Given the description of an element on the screen output the (x, y) to click on. 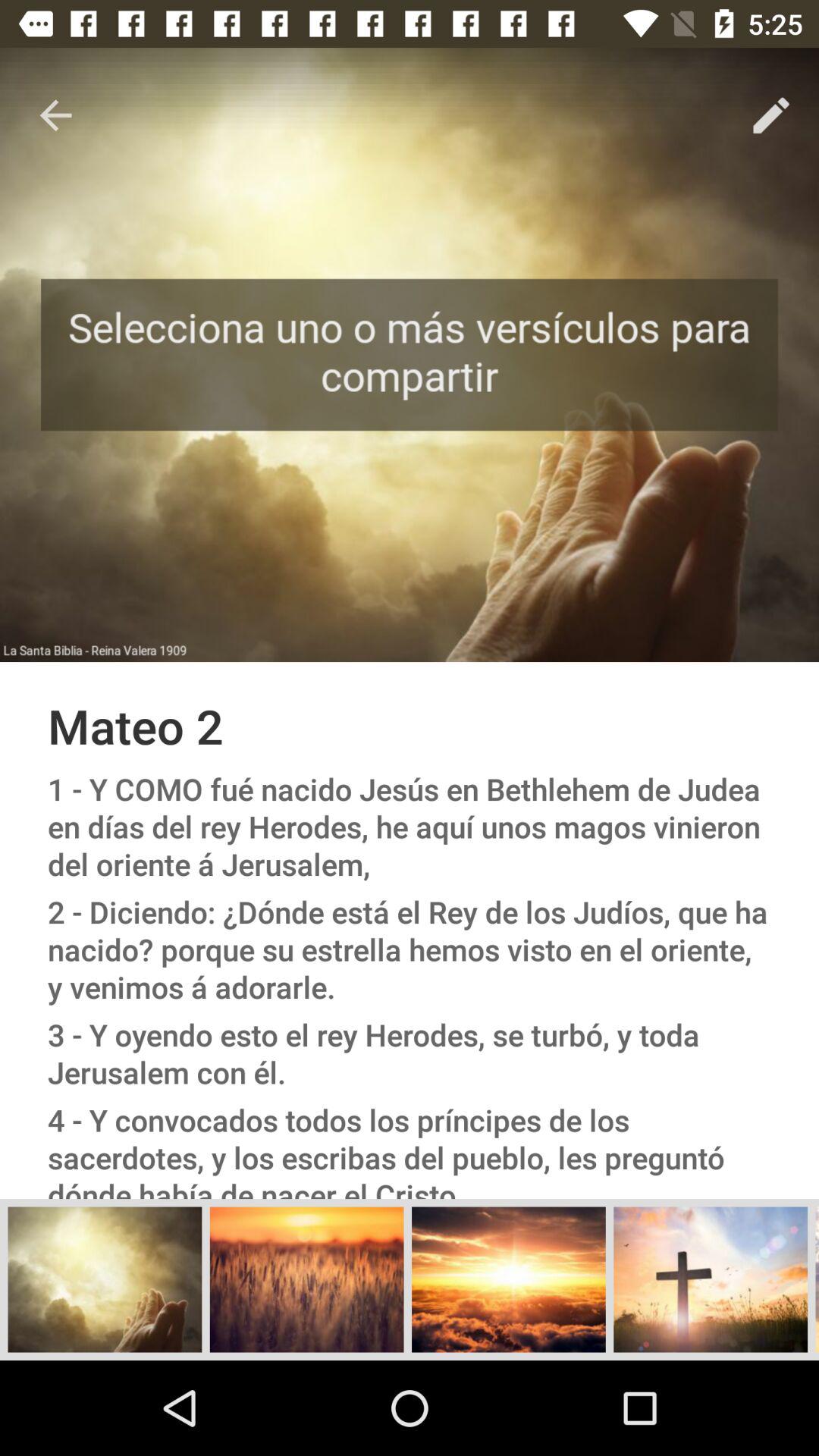
select the item above the mateo 2 item (771, 115)
